Given the description of an element on the screen output the (x, y) to click on. 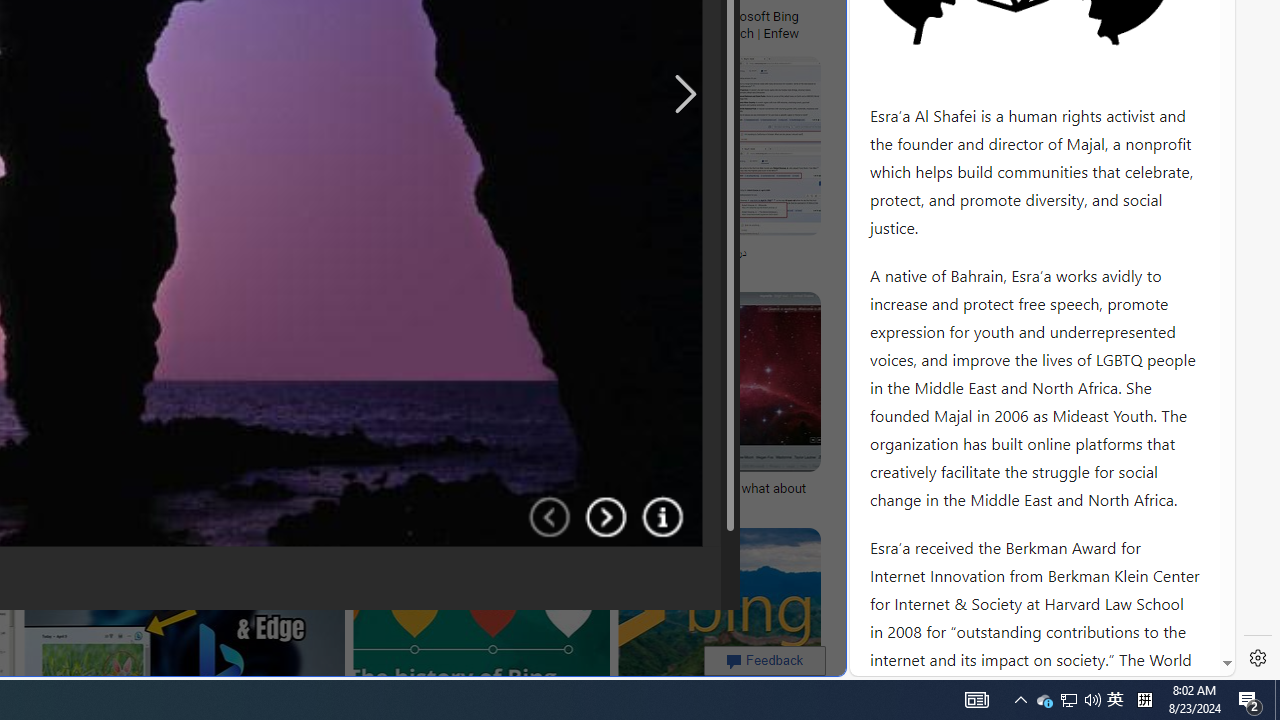
Bing (2009) (RARE/FAKE) - YouTube (377, 253)
Microsoft Bing Search | Enfew (763, 24)
Microsoft Bing Search | Enfew (763, 24)
Remove the 'News & Interests' bar from Bing | TechLife (233, 16)
Remove the 'News & Interests' bar from Bing | TechLife (228, 16)
